Given the description of an element on the screen output the (x, y) to click on. 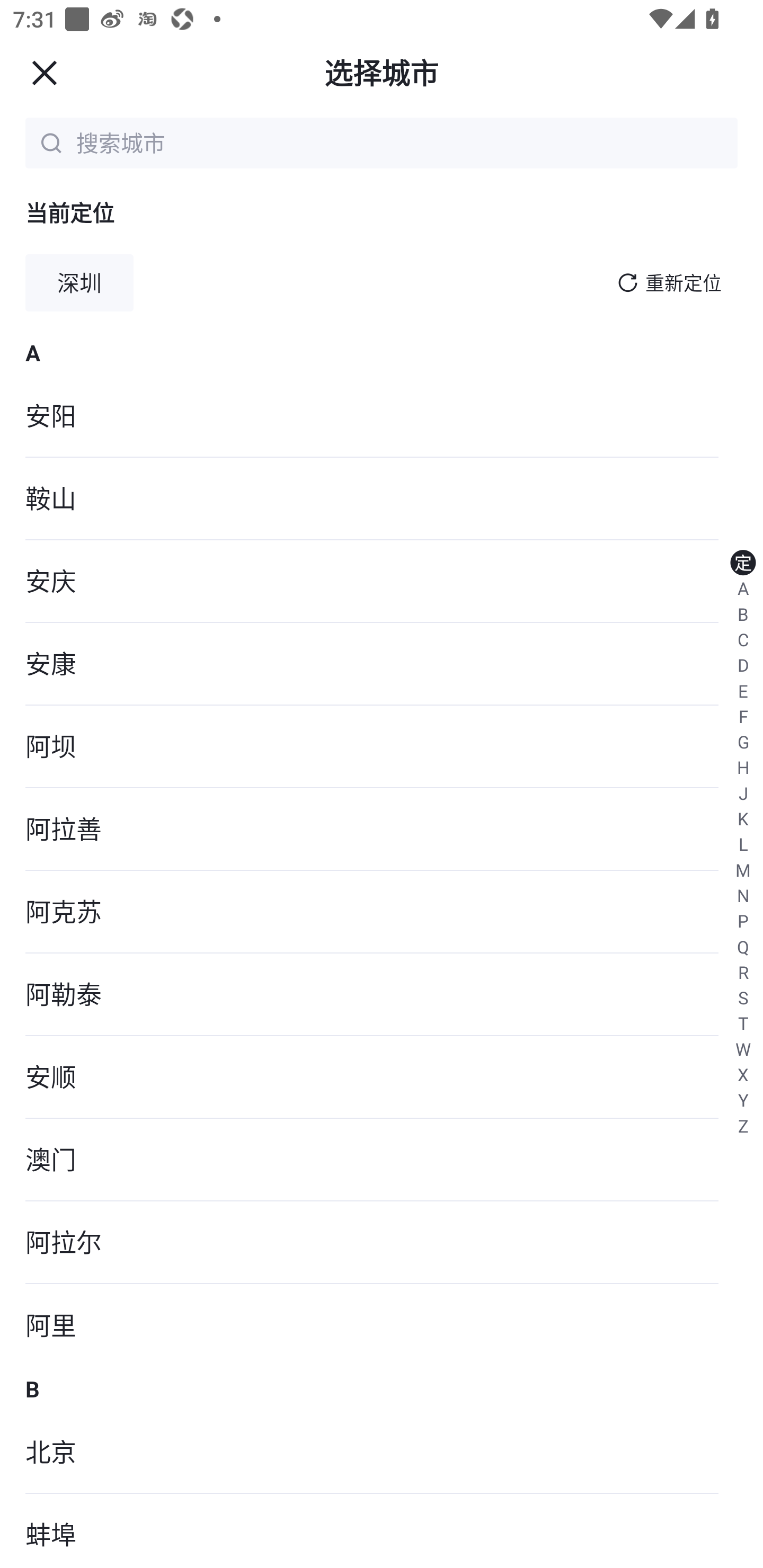
 (44, 71)
搜索城市 (403, 142)
深圳 (79, 283)
重新定位 (683, 282)
 (627, 282)
安阳 (381, 415)
鞍山 (381, 498)
安庆 (381, 581)
安康 (381, 663)
阿坝 (381, 746)
阿拉善 (381, 829)
阿克苏 (381, 911)
阿勒泰 (381, 994)
安顺 (381, 1077)
澳门 (381, 1160)
阿拉尔 (381, 1242)
阿里 (381, 1325)
北京 (381, 1452)
蚌埠 (381, 1531)
